Given the description of an element on the screen output the (x, y) to click on. 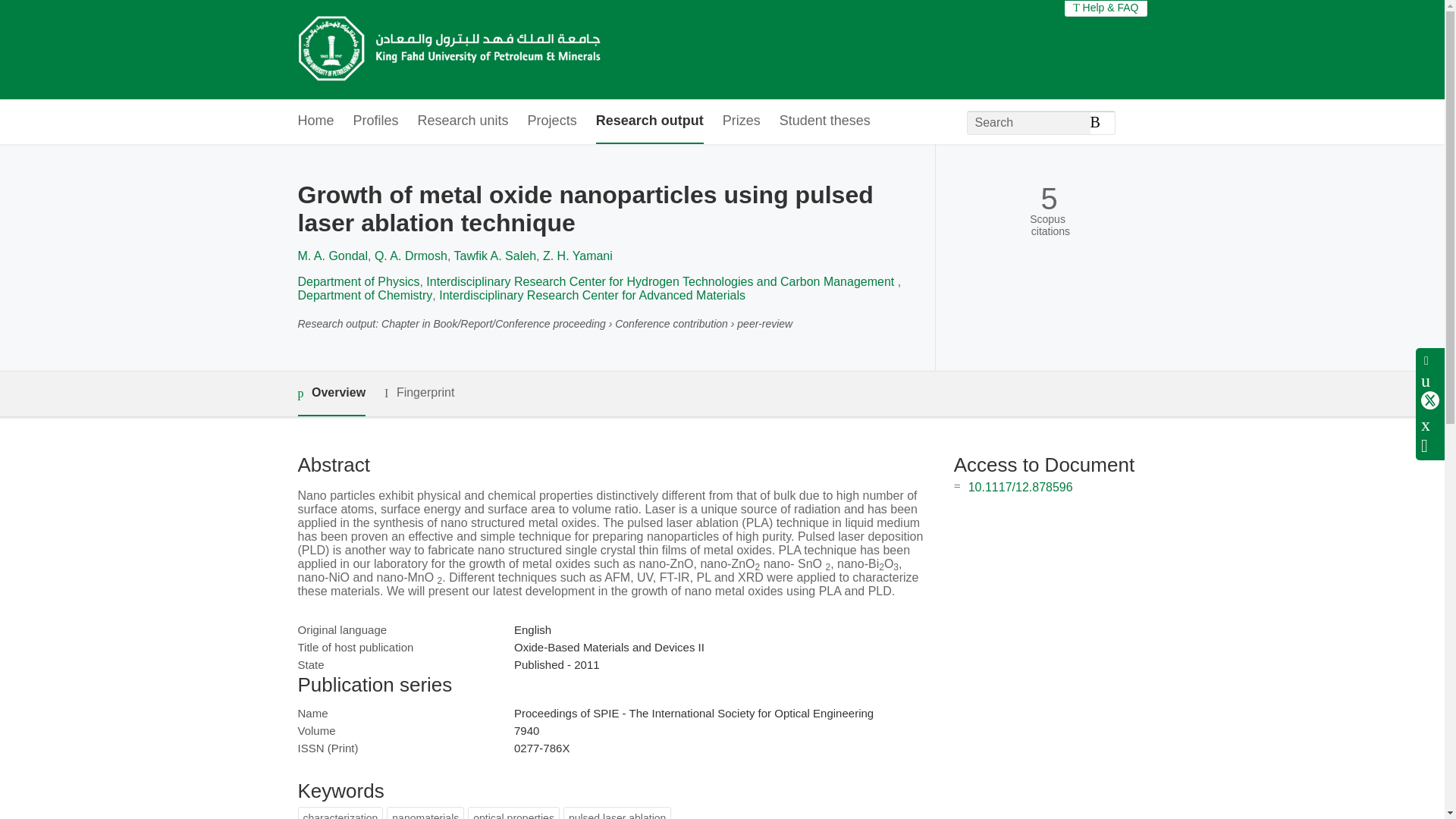
Home (315, 121)
Projects (551, 121)
Tawfik A. Saleh (495, 255)
Student theses (824, 121)
Interdisciplinary Research Center for Advanced Materials (592, 295)
M. A. Gondal (332, 255)
Department of Physics (358, 281)
Research output (649, 121)
Z. H. Yamani (577, 255)
Fingerprint (419, 392)
Q. A. Drmosh (410, 255)
Profiles (375, 121)
Department of Chemistry (364, 295)
